Given the description of an element on the screen output the (x, y) to click on. 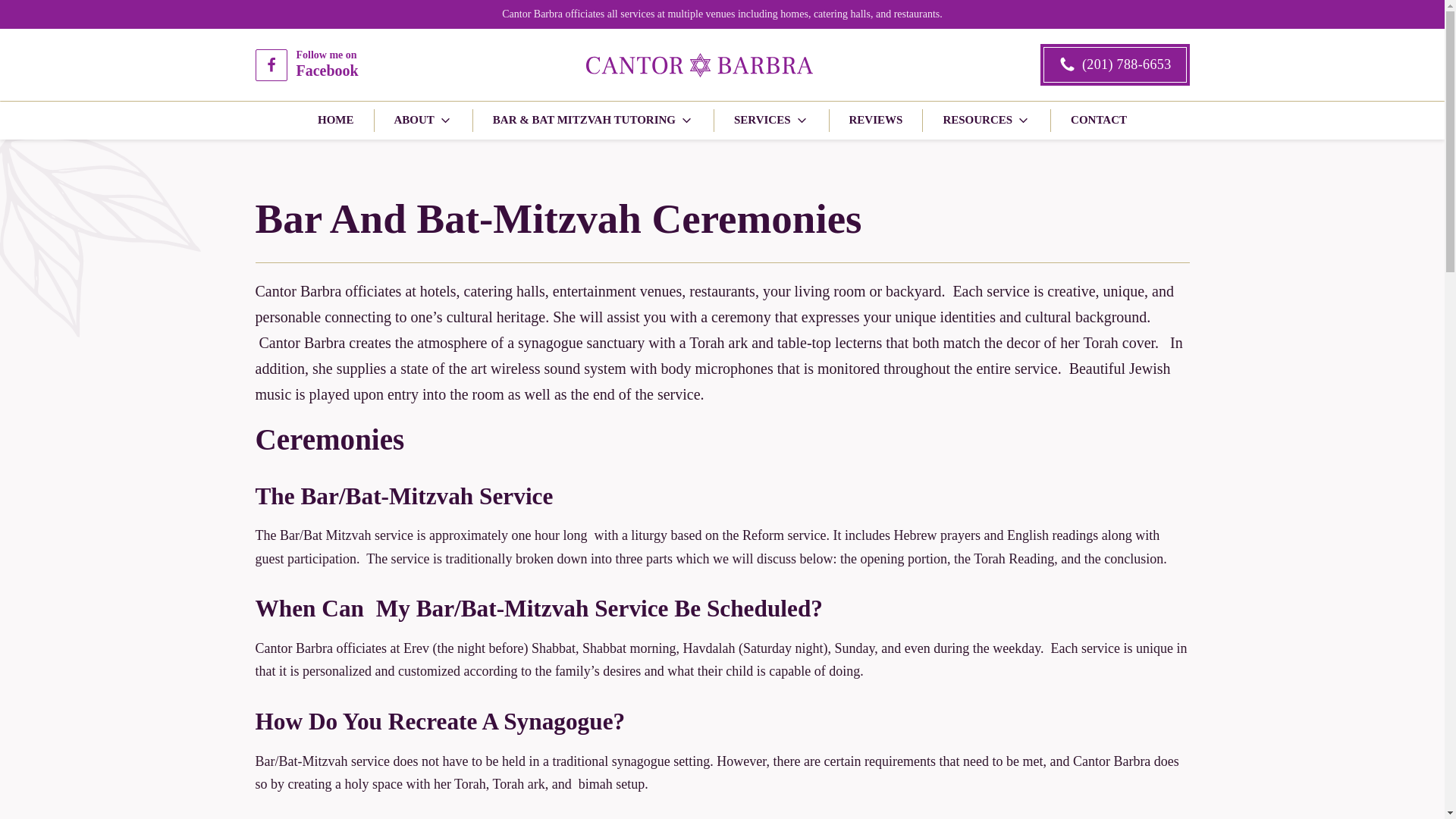
CONTACT (1098, 119)
SERVICES (306, 65)
REVIEWS (771, 119)
RESOURCES (876, 119)
HOME (986, 119)
ABOUT (335, 119)
